Given the description of an element on the screen output the (x, y) to click on. 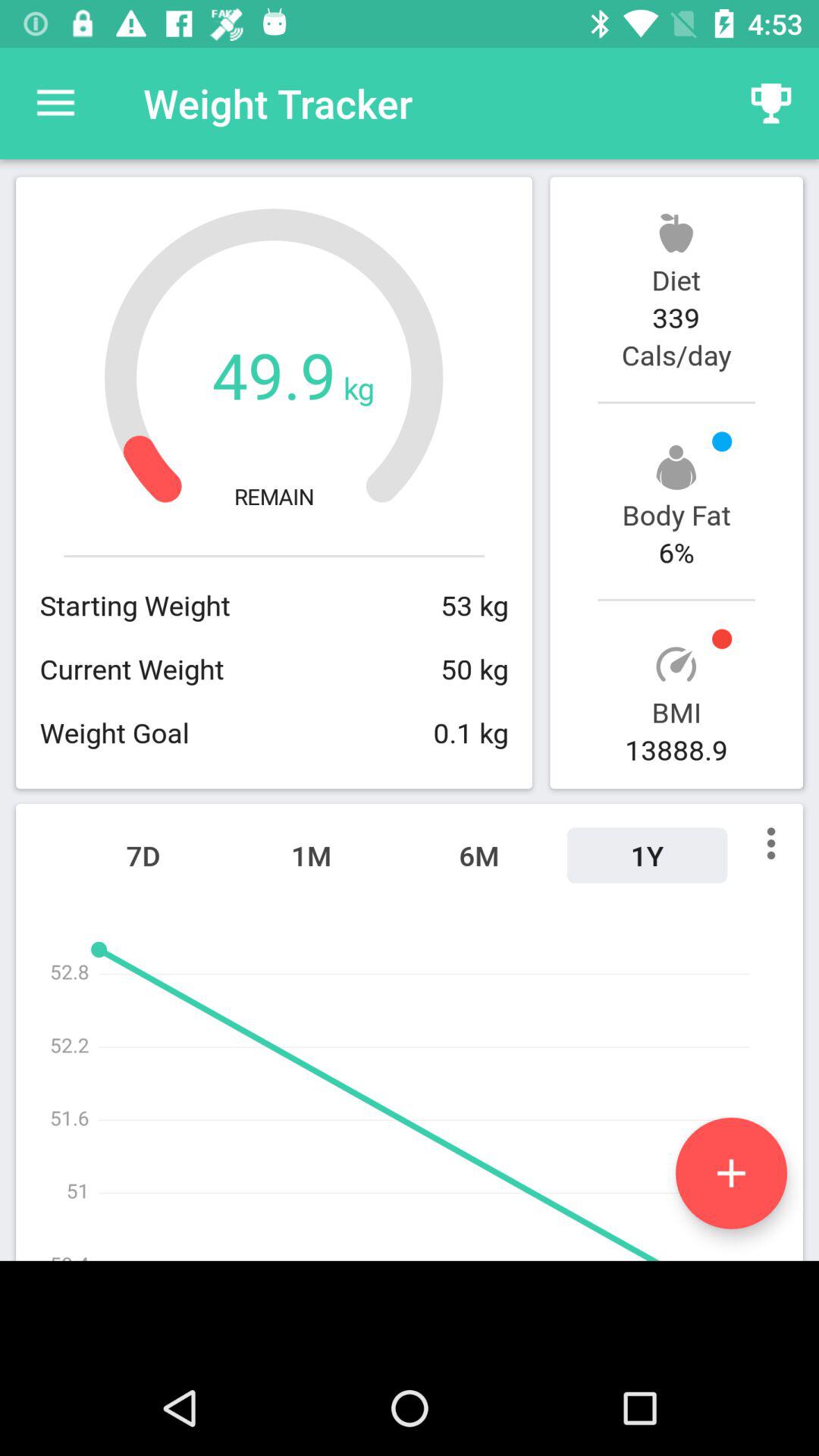
choose icon to the right of 6m icon (647, 855)
